Given the description of an element on the screen output the (x, y) to click on. 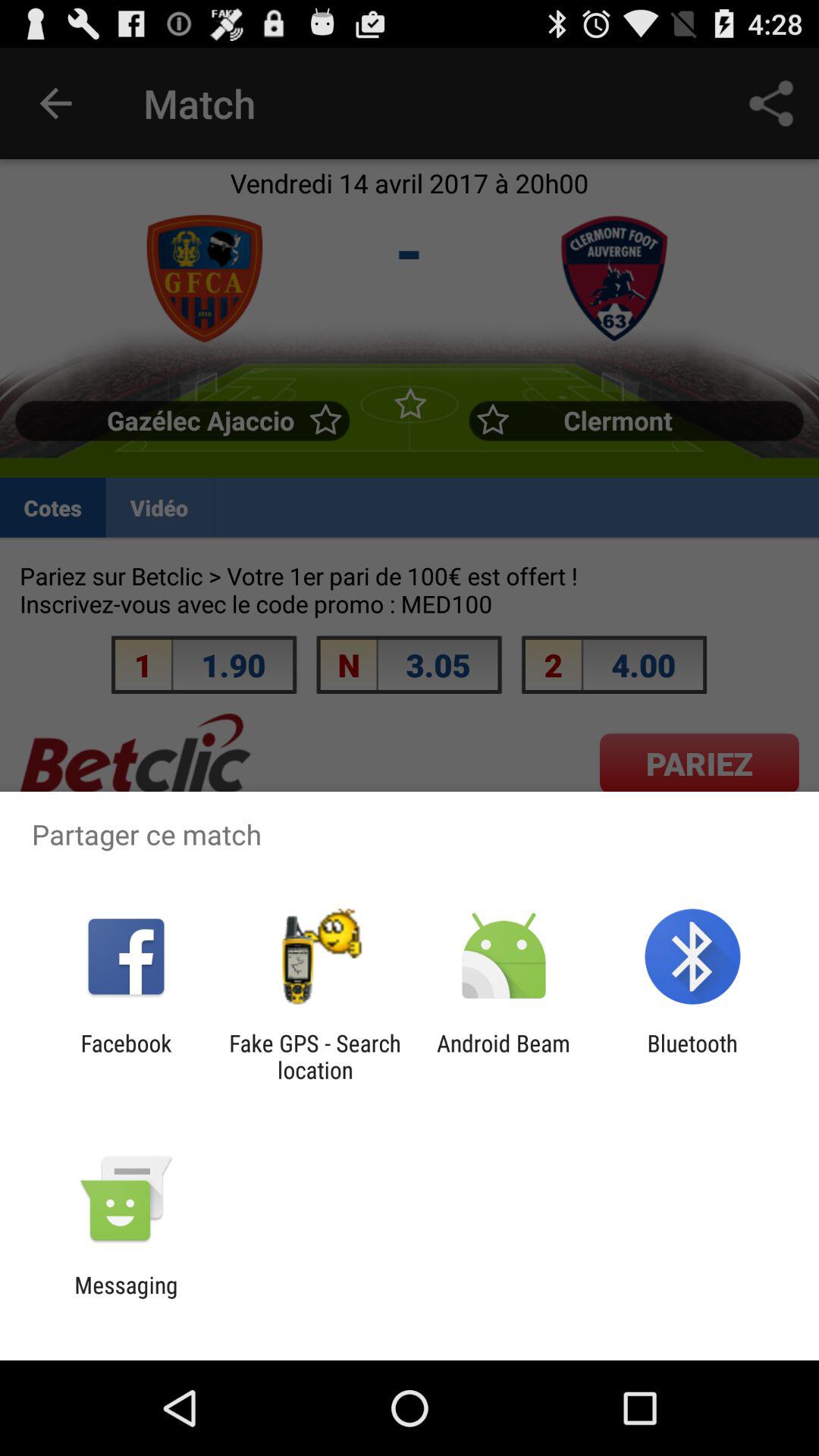
select facebook item (125, 1056)
